Given the description of an element on the screen output the (x, y) to click on. 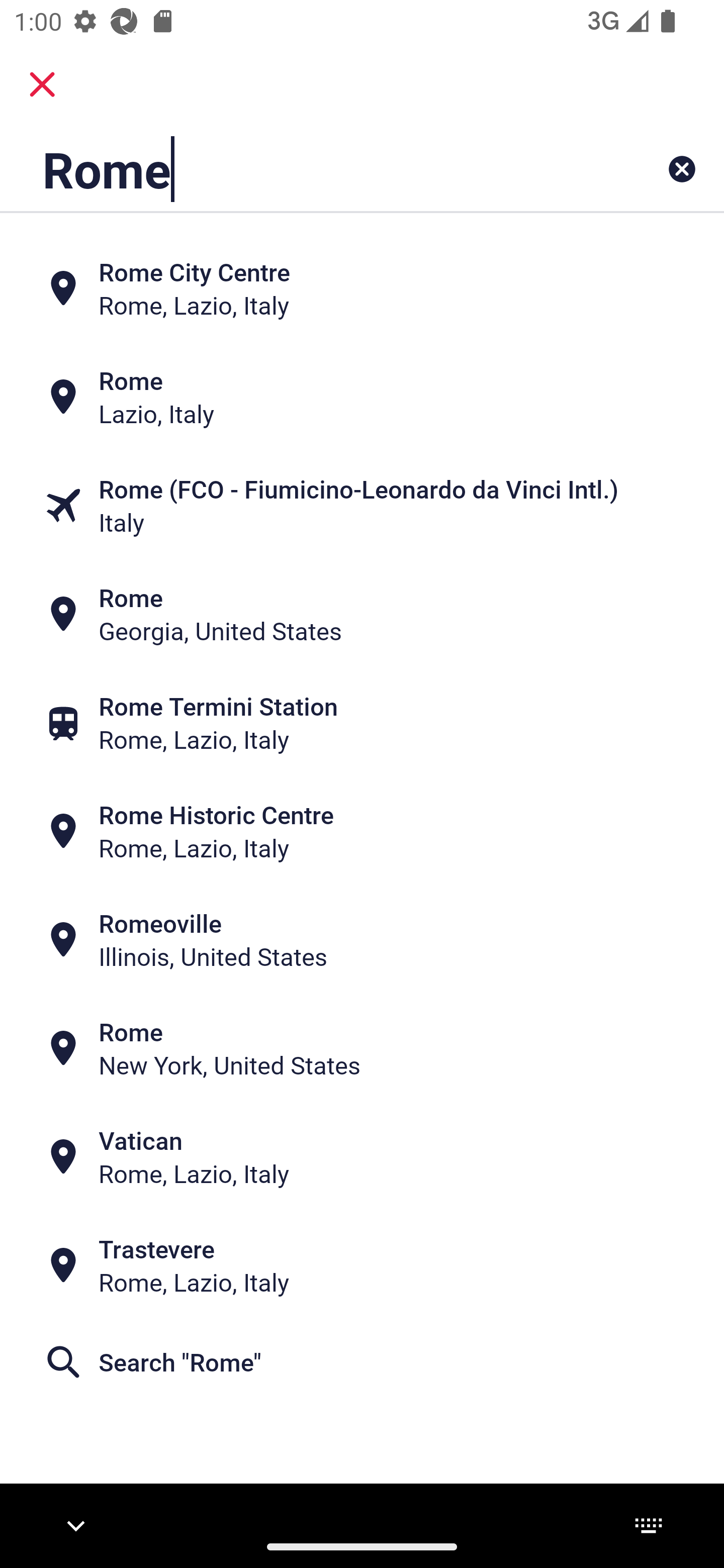
close. (42, 84)
Clear (681, 169)
Rome (298, 169)
Rome City Centre Rome, Lazio, Italy (362, 288)
Rome Lazio, Italy (362, 397)
Rome Georgia, United States (362, 613)
Rome Termini Station Rome, Lazio, Italy (362, 722)
Rome Historic Centre Rome, Lazio, Italy (362, 831)
Romeoville Illinois, United States (362, 939)
Rome New York, United States (362, 1048)
Vatican Rome, Lazio, Italy (362, 1156)
Trastevere Rome, Lazio, Italy (362, 1265)
Search "Rome" (362, 1362)
